Given the description of an element on the screen output the (x, y) to click on. 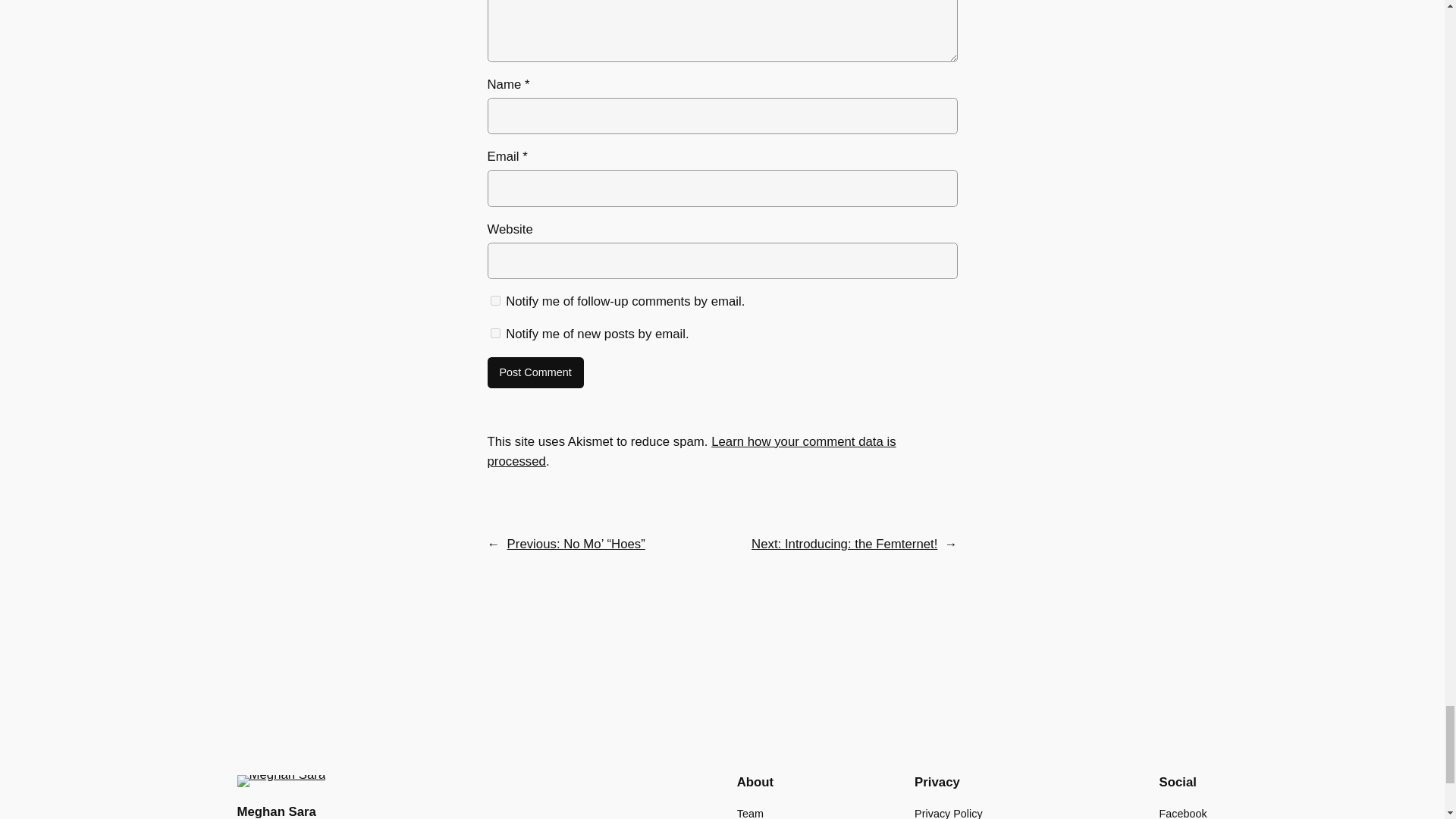
Privacy Policy (948, 812)
Team (749, 812)
Post Comment (534, 373)
Next: Introducing: the Femternet! (844, 544)
Learn how your comment data is processed (690, 451)
Meghan Sara (275, 810)
Post Comment (534, 373)
subscribe (494, 300)
subscribe (494, 333)
